Given the description of an element on the screen output the (x, y) to click on. 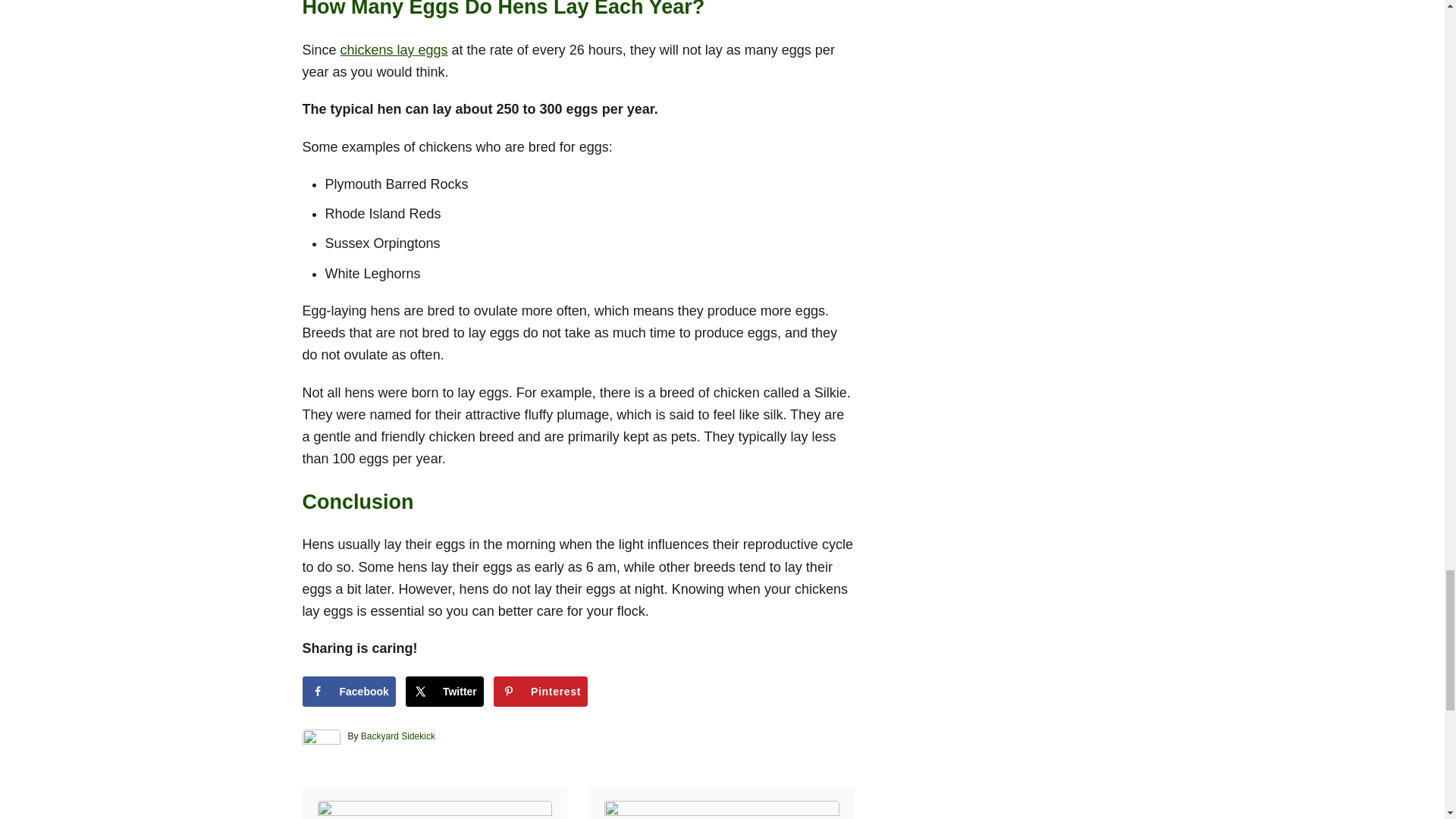
Share on Facebook (347, 691)
Share on X (444, 691)
Save to Pinterest (540, 691)
